Given the description of an element on the screen output the (x, y) to click on. 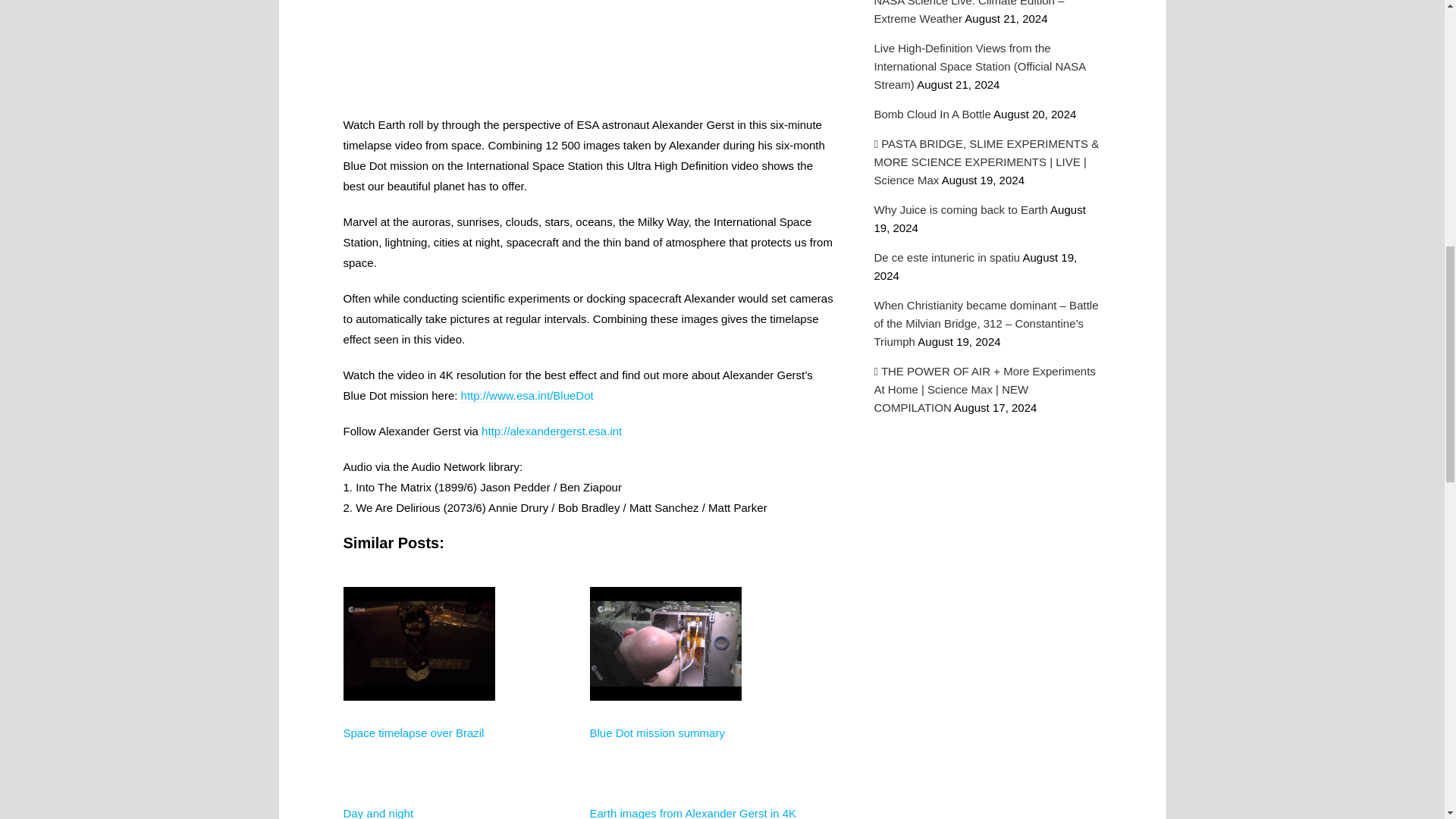
Blue (665, 754)
Space timelapse over Brazil (412, 732)
Space (418, 754)
Day and night (377, 812)
Earth images from Alexander Gerst in 4K (692, 812)
Earth images from Alexander Gerst in 4K (692, 812)
Space timelapse over Brazil (412, 732)
Day and night (377, 812)
Blue Dot mission summary (657, 732)
Blue Dot mission summary (657, 732)
